Given the description of an element on the screen output the (x, y) to click on. 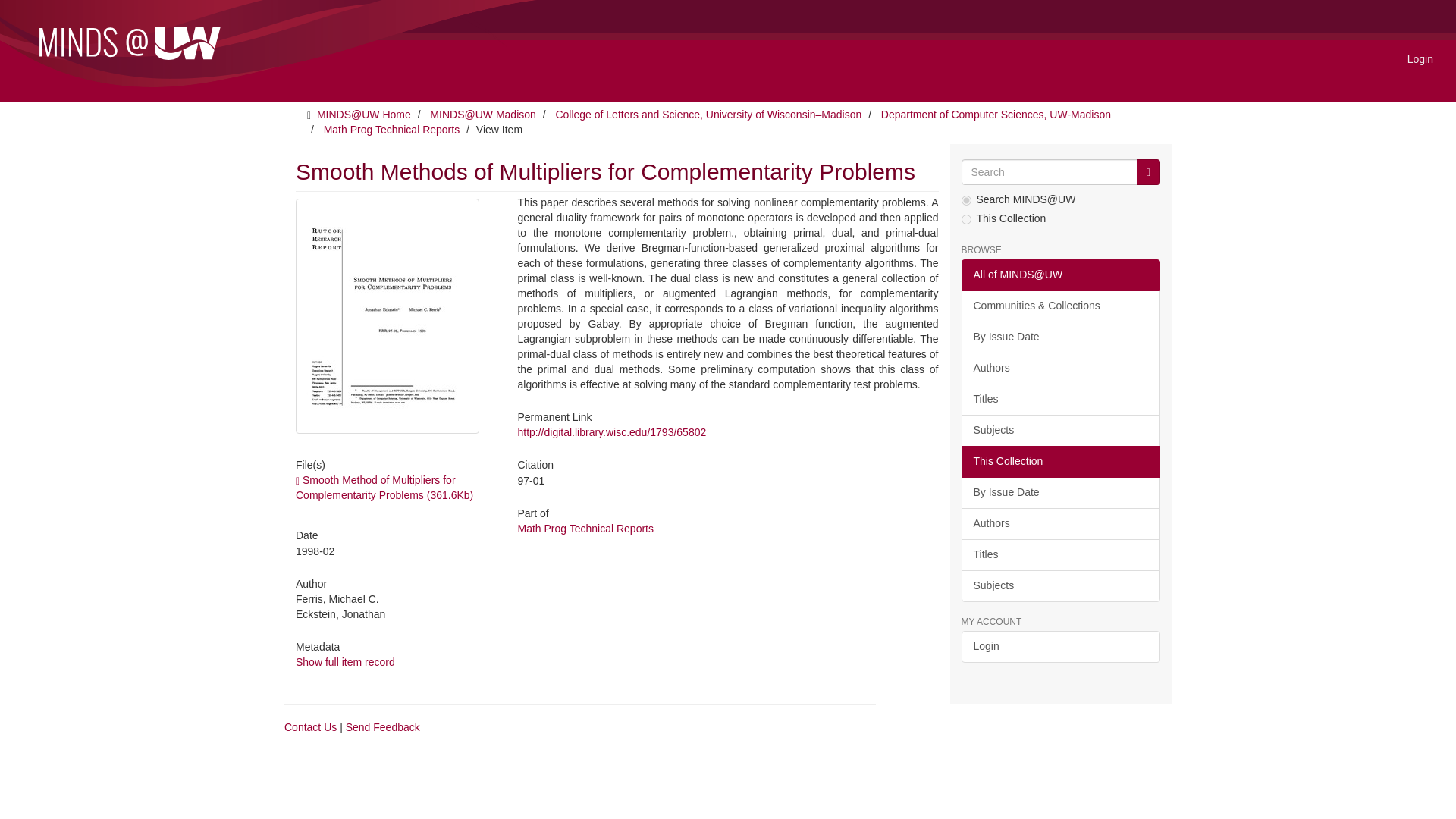
This Collection (1060, 461)
Go (1148, 171)
By Issue Date (1060, 492)
Math Prog Technical Reports (391, 129)
Math Prog Technical Reports (584, 528)
Authors (1060, 523)
Login (1420, 58)
Subjects (1060, 430)
Contact Us (309, 727)
Authors (1060, 368)
